Given the description of an element on the screen output the (x, y) to click on. 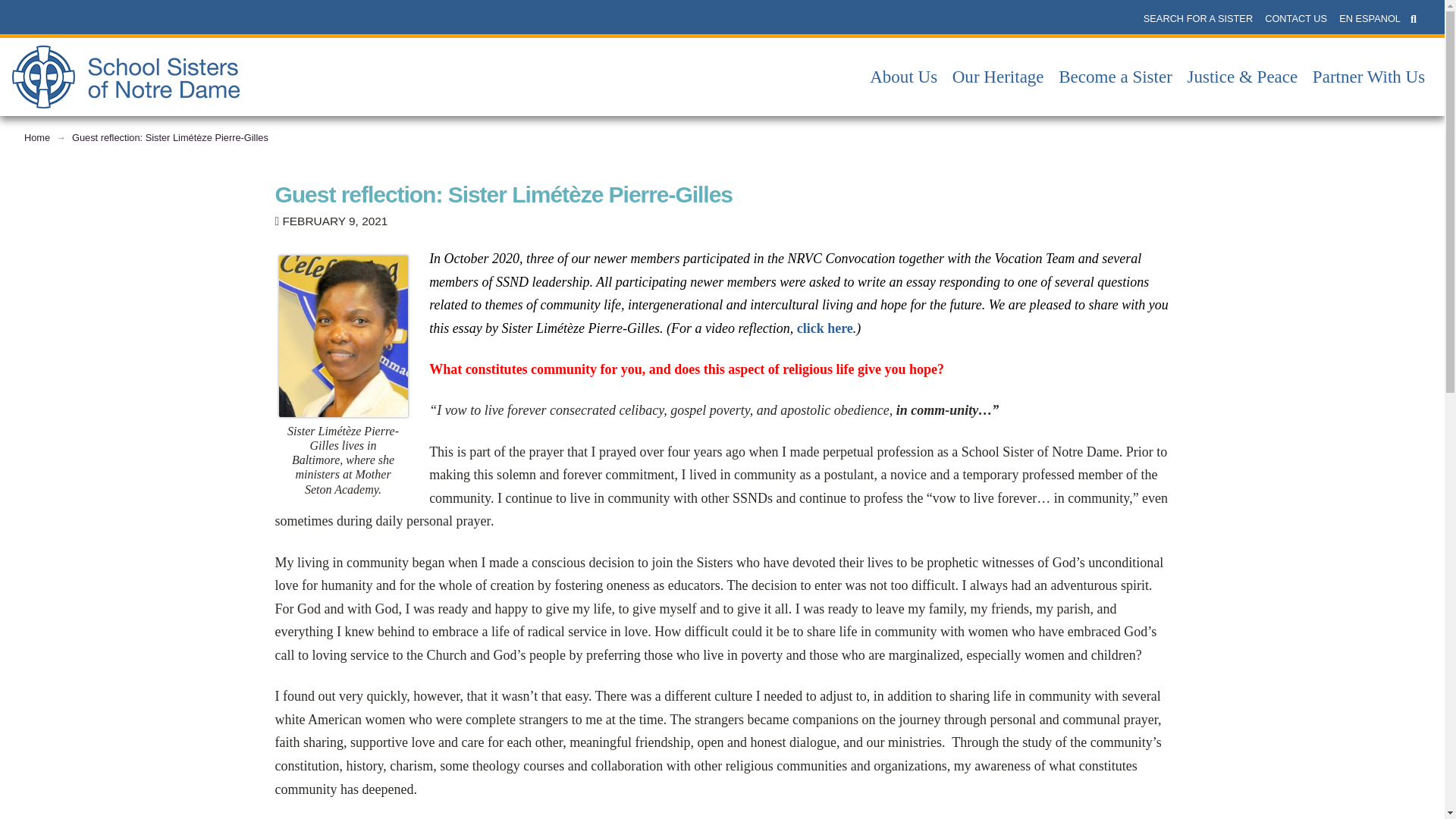
EN ESPANOL (1369, 18)
About Us (902, 76)
Become a Sister (1115, 76)
Our Heritage (997, 76)
CONTACT US (1296, 18)
You Are Here (169, 137)
SEARCH FOR A SISTER (1198, 18)
Partner With Us (1368, 76)
